Given the description of an element on the screen output the (x, y) to click on. 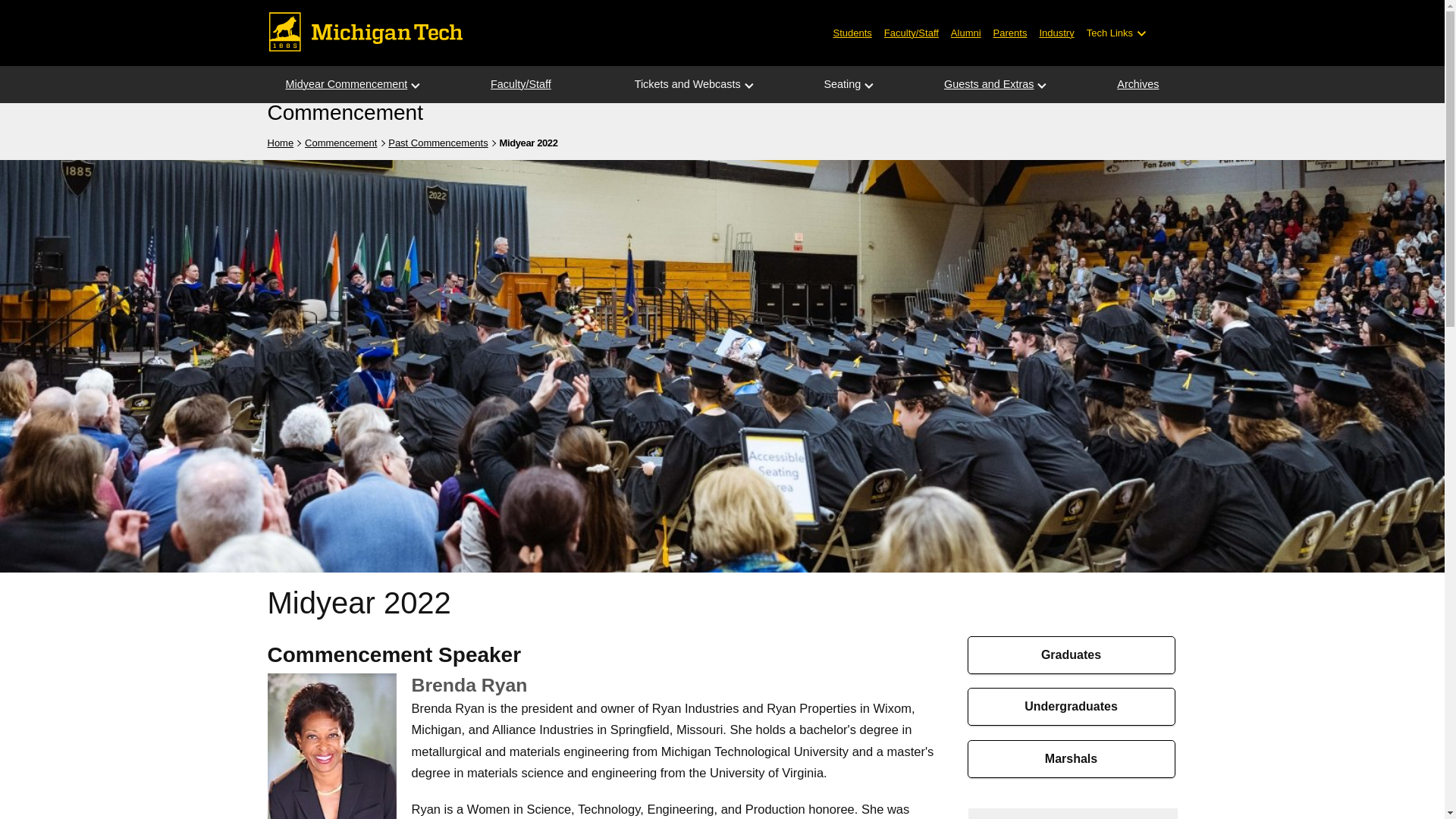
Archives (1137, 84)
Open Search (1166, 33)
Industry (1056, 32)
Midyear Commencement (345, 84)
Parents (1010, 32)
Alumni (965, 32)
Guests and Extras (988, 84)
Students (852, 32)
